Given the description of an element on the screen output the (x, y) to click on. 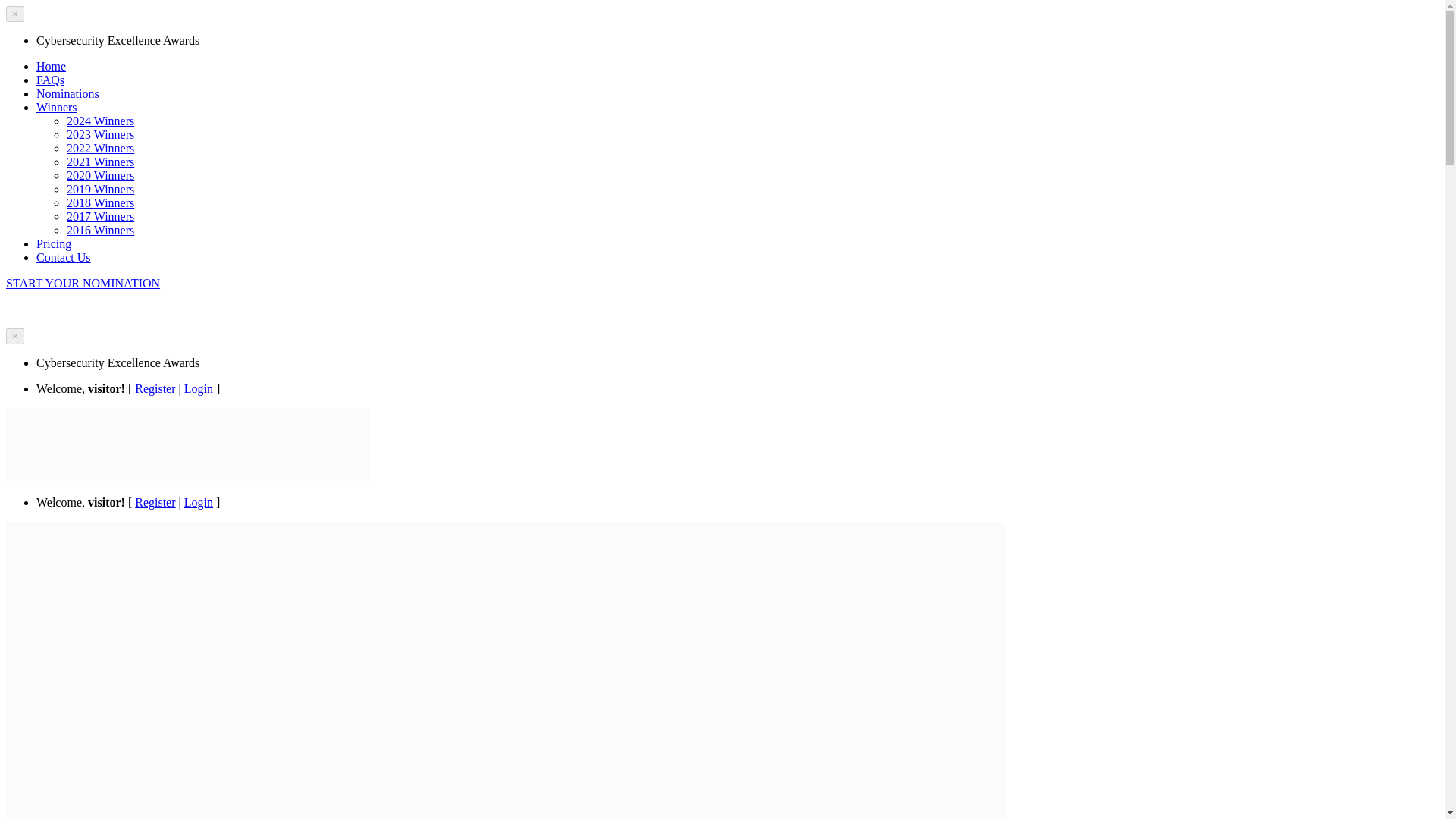
2024 Winners (99, 120)
Before Jan 31, 2025 (54, 308)
2022 Winners (99, 147)
2020 Winners (99, 174)
2018 Winners (99, 202)
Register (154, 502)
2023 Winners (99, 133)
Contact Us (63, 256)
2021 Winners (99, 161)
Winners (56, 106)
